Given the description of an element on the screen output the (x, y) to click on. 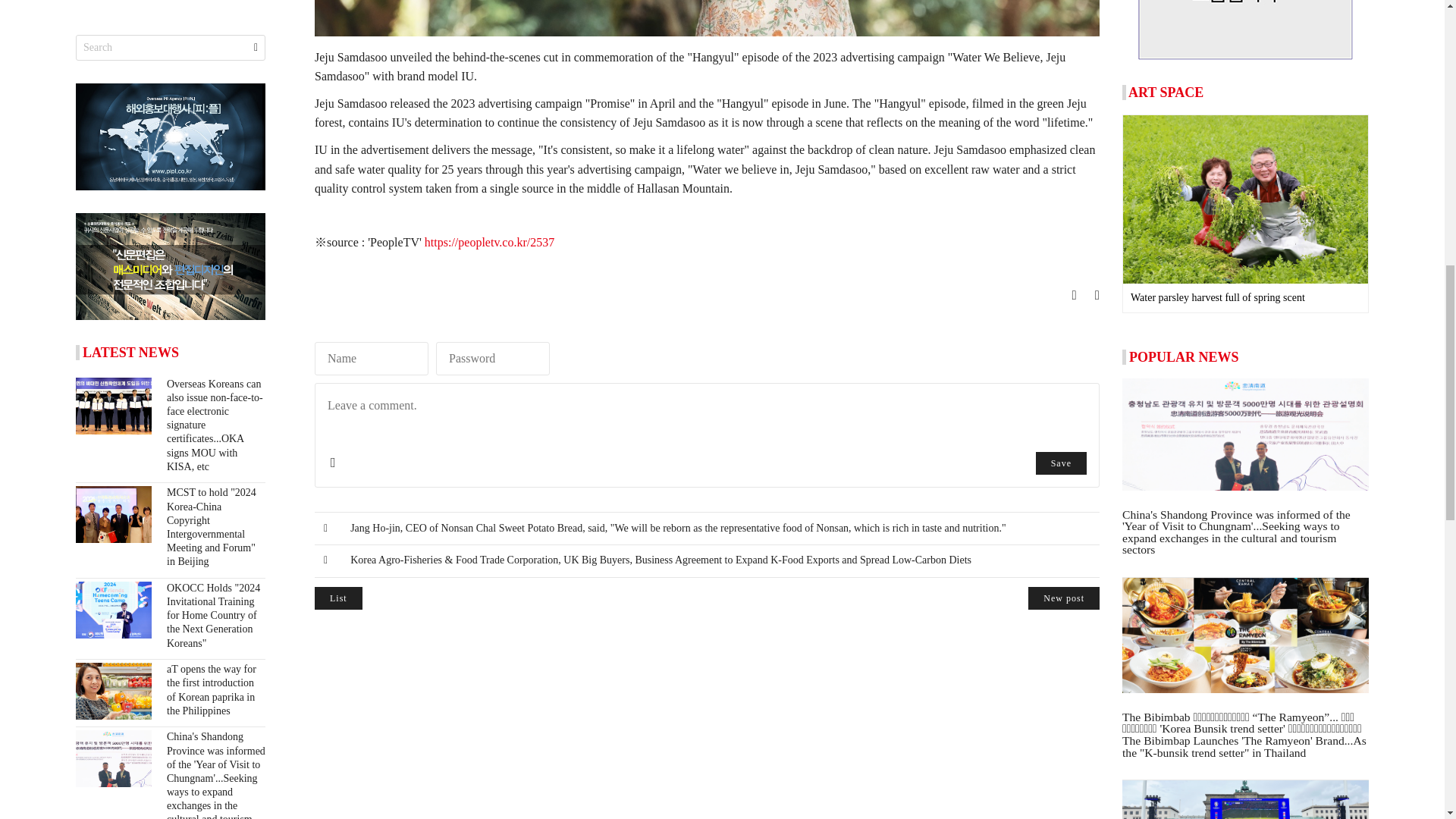
Leave a comment. (706, 419)
password (492, 358)
nick (371, 358)
